Given the description of an element on the screen output the (x, y) to click on. 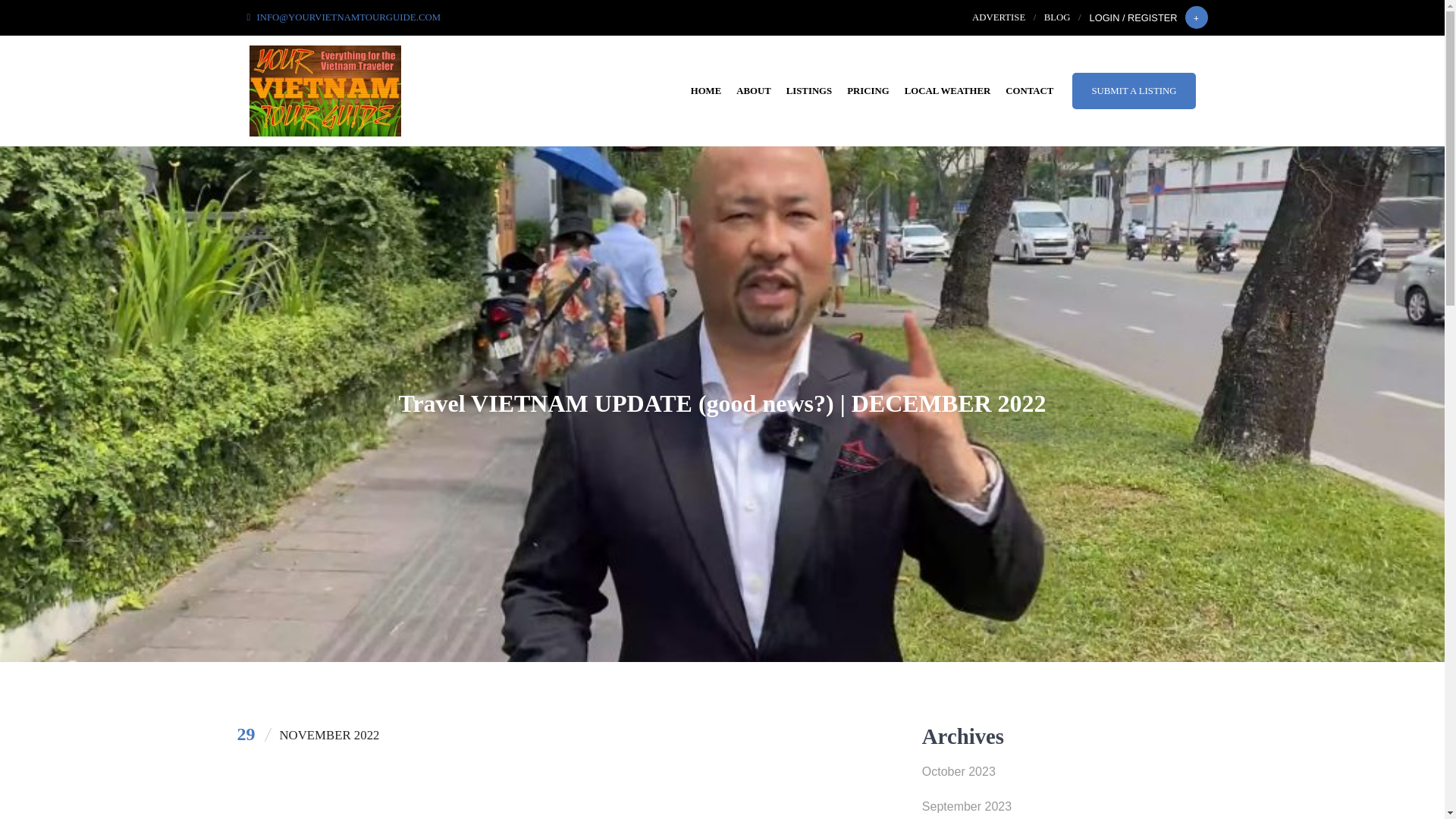
HOME (705, 90)
SUBMIT A LISTING (1133, 90)
October 2023 (1064, 775)
ABOUT (753, 90)
ADVERTISE (998, 17)
BLOG (1056, 17)
LOCAL WEATHER (947, 90)
LISTINGS (809, 90)
CONTACT (1029, 90)
September 2023 (1064, 807)
